Given the description of an element on the screen output the (x, y) to click on. 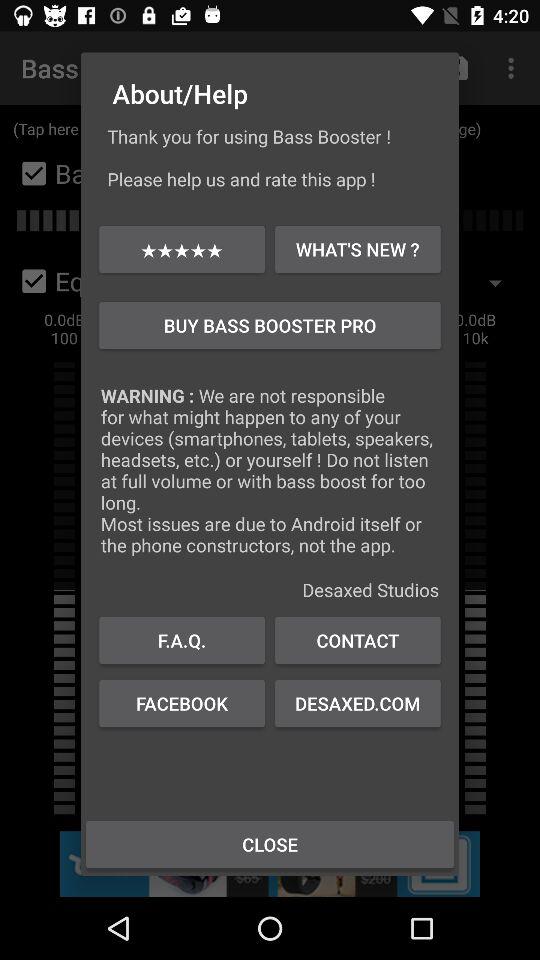
turn off icon to the right of the f.a.q. (357, 639)
